Given the description of an element on the screen output the (x, y) to click on. 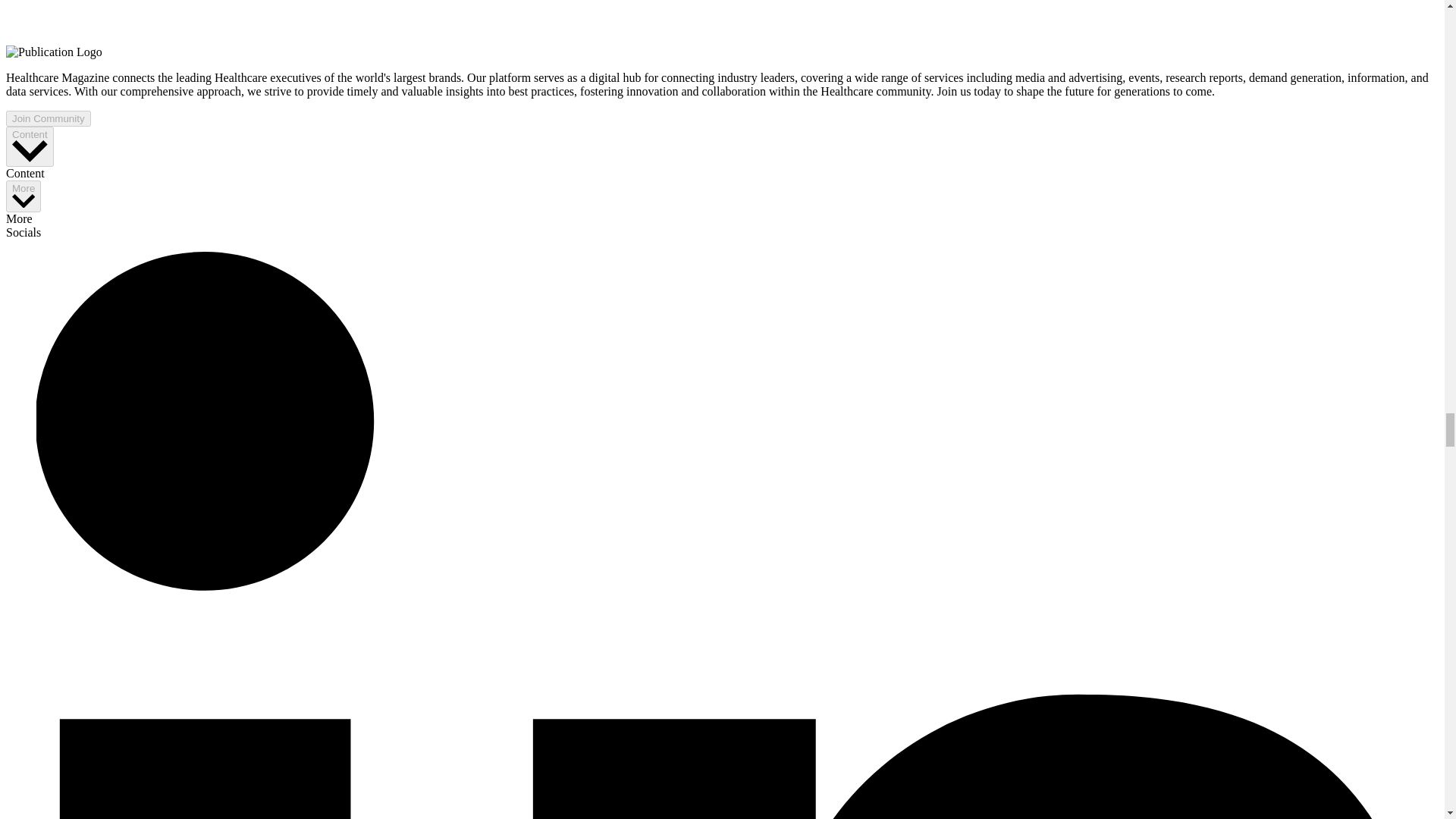
Join Community (47, 118)
More (22, 196)
Content (29, 146)
